Given the description of an element on the screen output the (x, y) to click on. 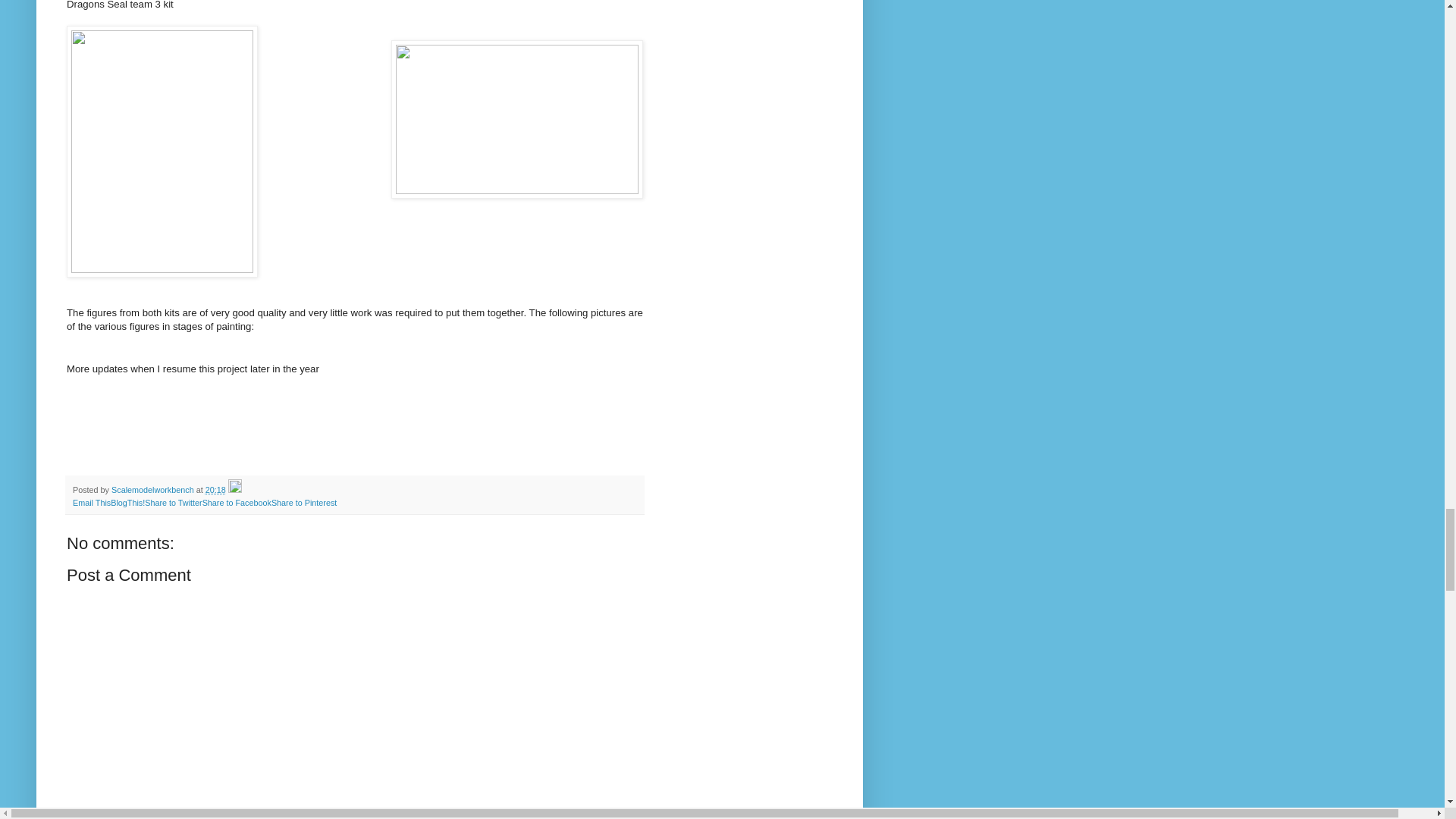
Share to Pinterest (303, 501)
BlogThis! (127, 501)
Share to Twitter (173, 501)
20:18 (215, 489)
Scalemodelworkbench (154, 489)
author profile (154, 489)
Edit Post (234, 489)
BlogThis! (127, 501)
Share to Facebook (236, 501)
Email This (91, 501)
permanent link (215, 489)
Email This (91, 501)
Share to Twitter (173, 501)
